Given the description of an element on the screen output the (x, y) to click on. 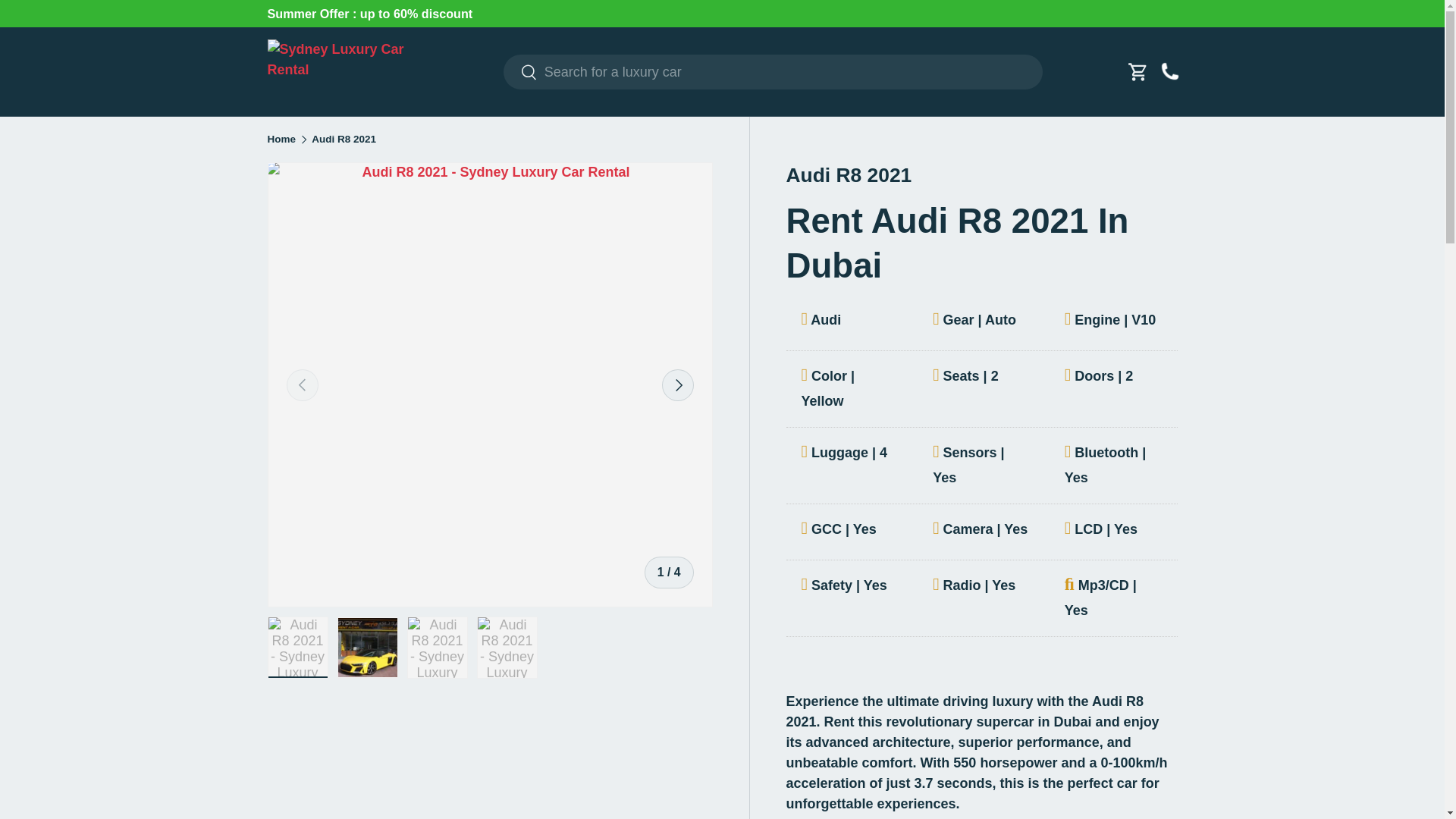
Load image 1 in gallery view (296, 647)
Search (520, 72)
Skip to content (69, 21)
Cart (1137, 71)
Load image 3 in gallery view (436, 647)
Load image 2 in gallery view (366, 647)
Audi R8 2021 (343, 139)
Previous (302, 385)
Load image 4 in gallery view (506, 647)
Home (280, 139)
Next (677, 385)
